Given the description of an element on the screen output the (x, y) to click on. 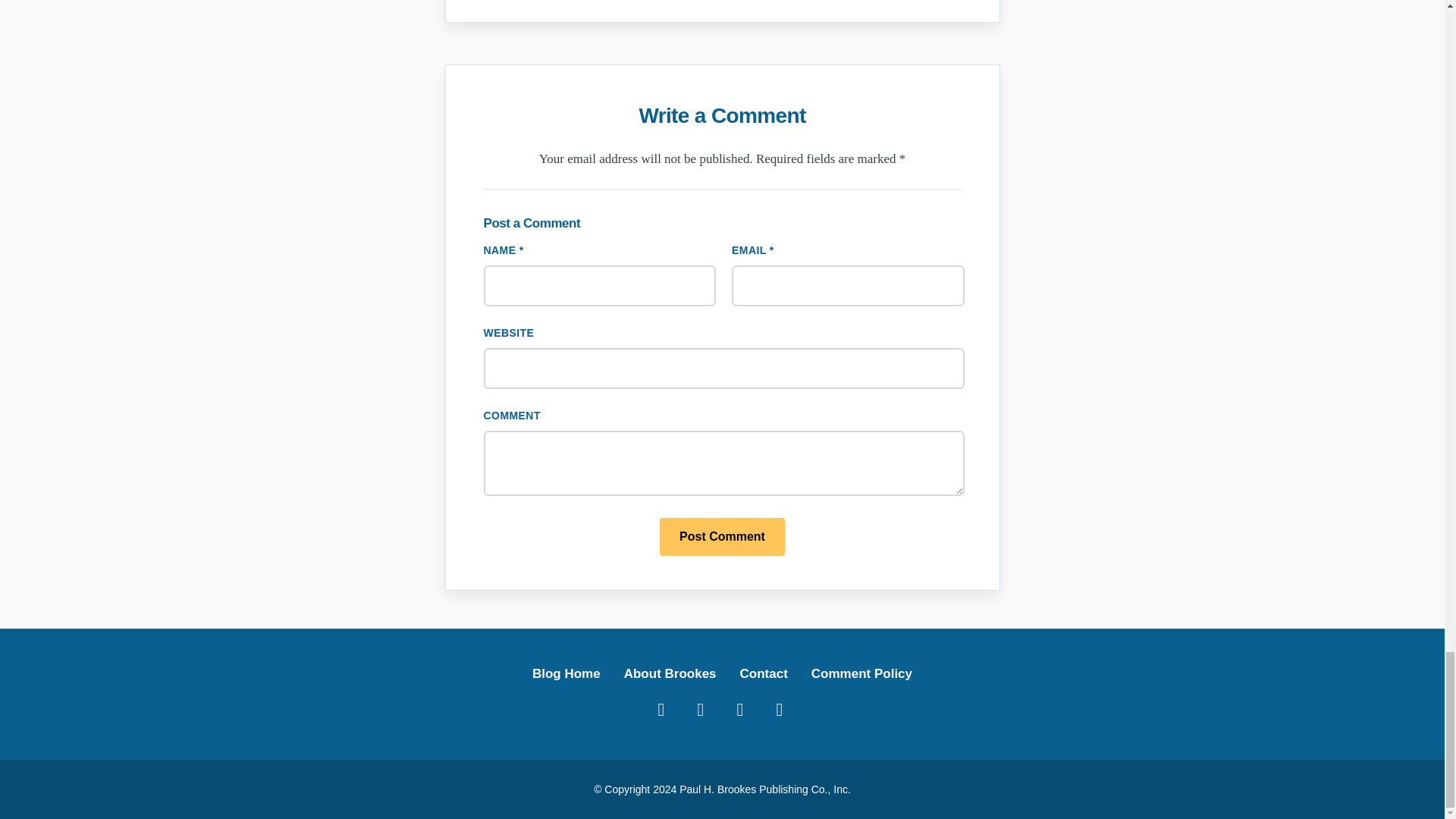
Facebook (661, 708)
About Brookes (670, 673)
Pinterest (739, 708)
Blog Home (565, 673)
Comment Policy (861, 673)
Twitter (700, 708)
Contact (763, 673)
Post Comment (721, 536)
